Given the description of an element on the screen output the (x, y) to click on. 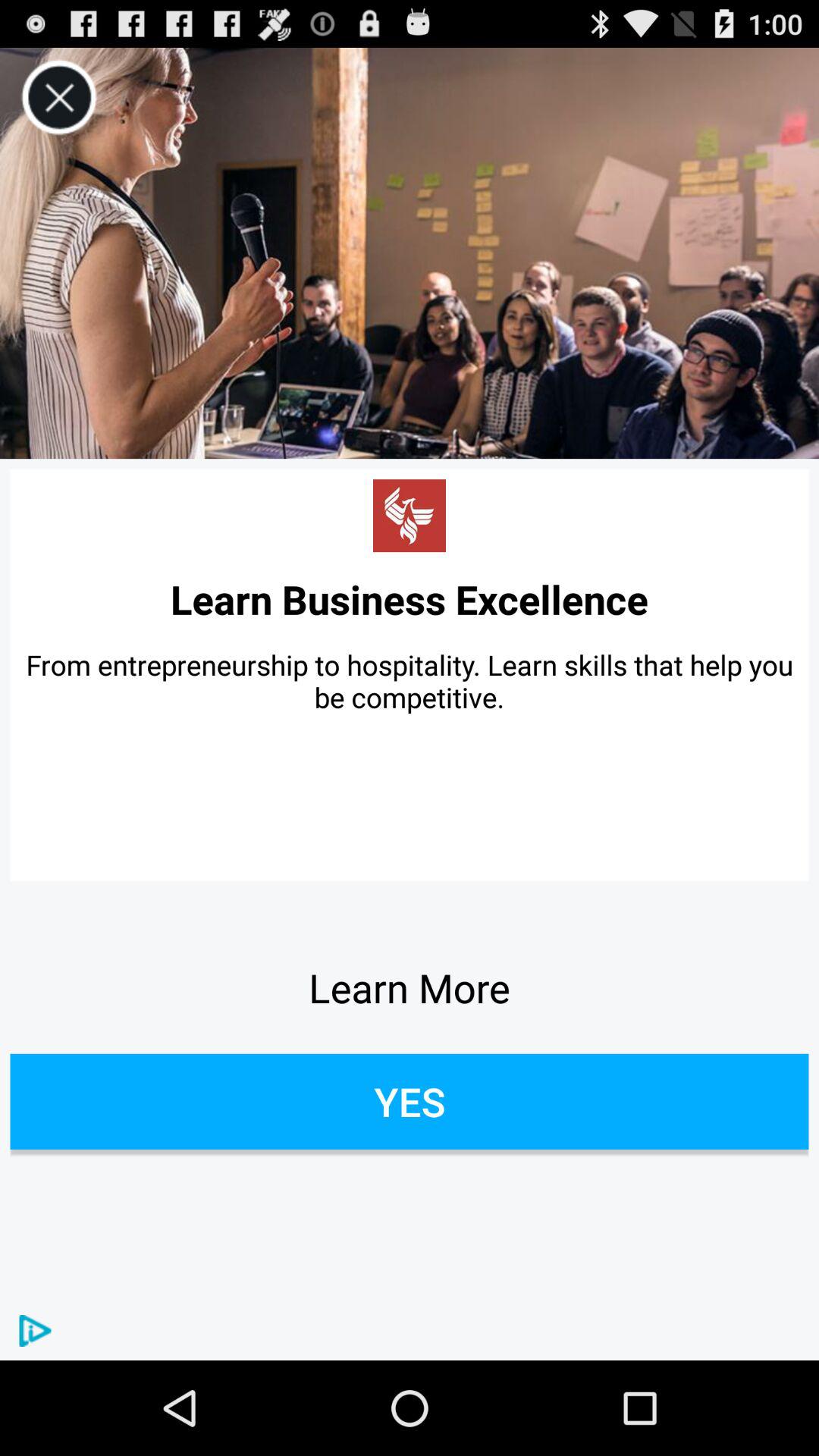
hyperlink (409, 515)
